Given the description of an element on the screen output the (x, y) to click on. 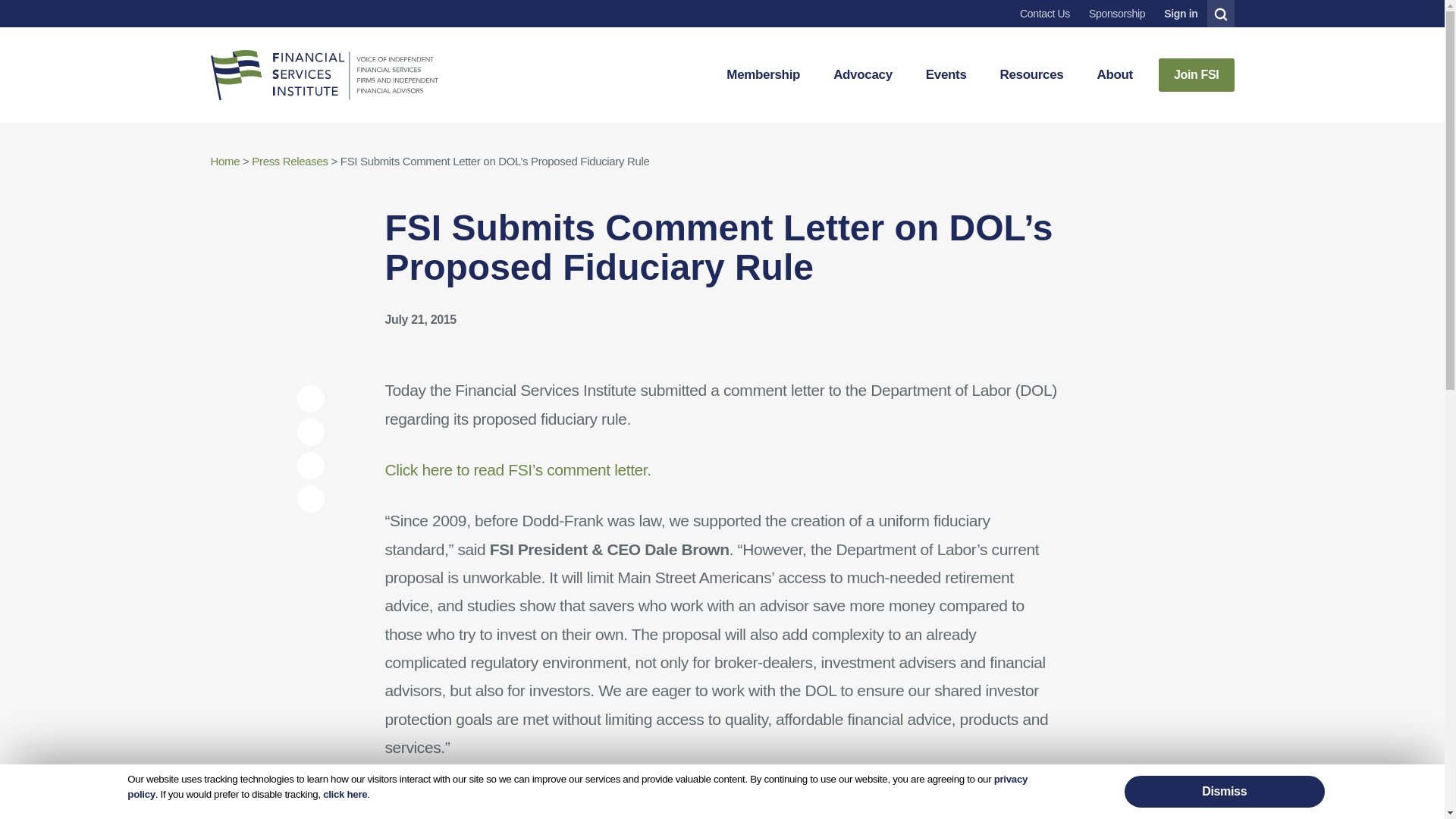
Go to Financial Services Institute. (225, 160)
Search (1219, 14)
Advocacy (862, 74)
Search Search (1220, 13)
Membership (763, 74)
Events (945, 74)
Sign in (1180, 13)
Resources (1032, 74)
Sponsorship (1116, 13)
Click here to read FSI's comment letter (517, 469)
Home (324, 74)
Go to the Press Releases category archives. (289, 160)
Contact Us (1044, 13)
